Given the description of an element on the screen output the (x, y) to click on. 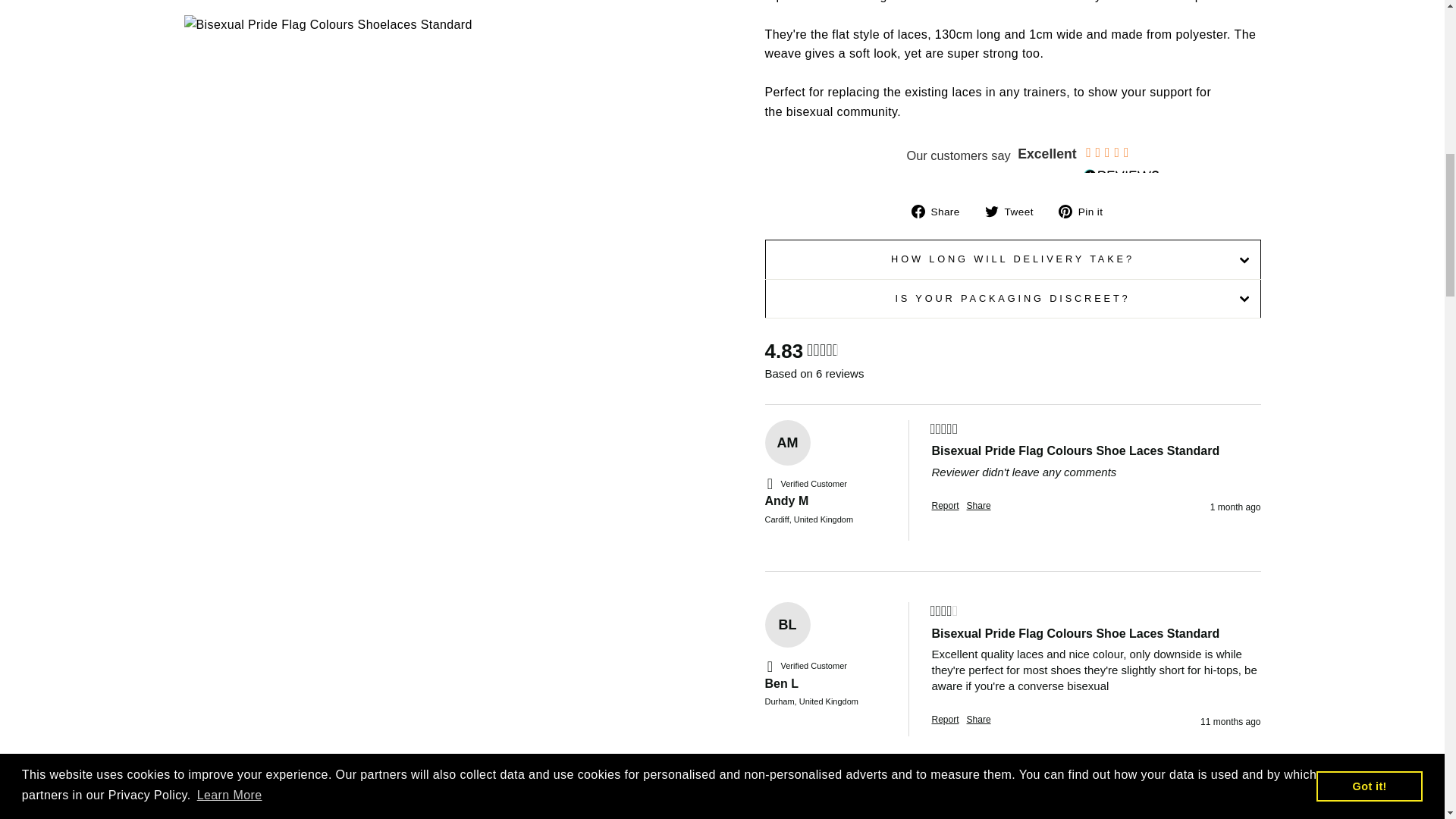
5 Stars (944, 807)
Reviews Widget (1012, 156)
Tweet on Twitter (1015, 211)
5 Stars (944, 429)
4 Stars (944, 611)
Share on Facebook (941, 211)
Pin on Pinterest (1085, 211)
4.83 Stars (822, 351)
